Given the description of an element on the screen output the (x, y) to click on. 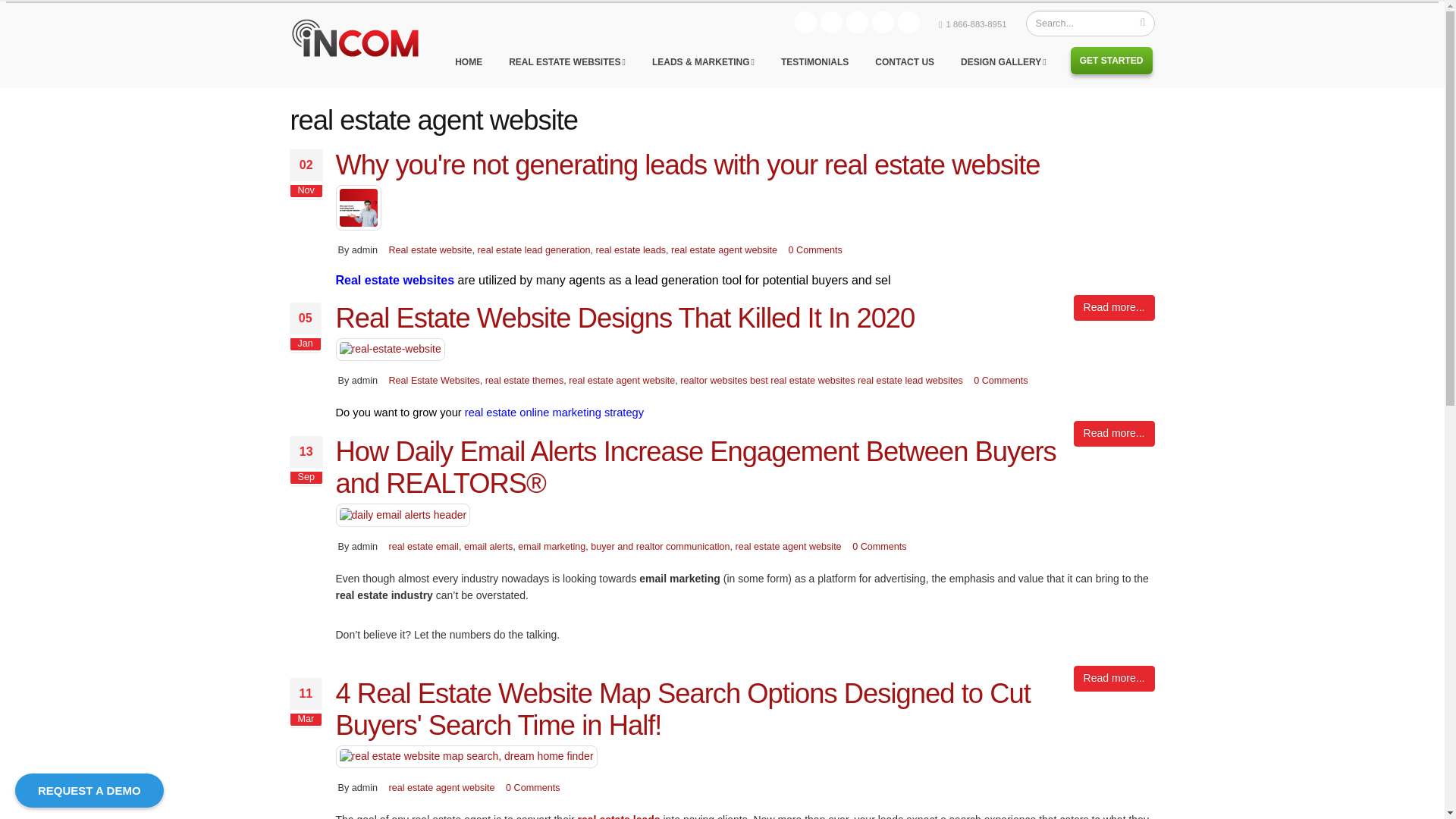
1 866-883-8951 (976, 23)
Twitter (856, 22)
Enter the terms you wish to search for. (1089, 23)
Blog (805, 22)
REQUEST A DEMO (88, 790)
real estate lead generation (533, 249)
Home (365, 51)
YouTube (909, 22)
Real estate website (429, 249)
